Given the description of an element on the screen output the (x, y) to click on. 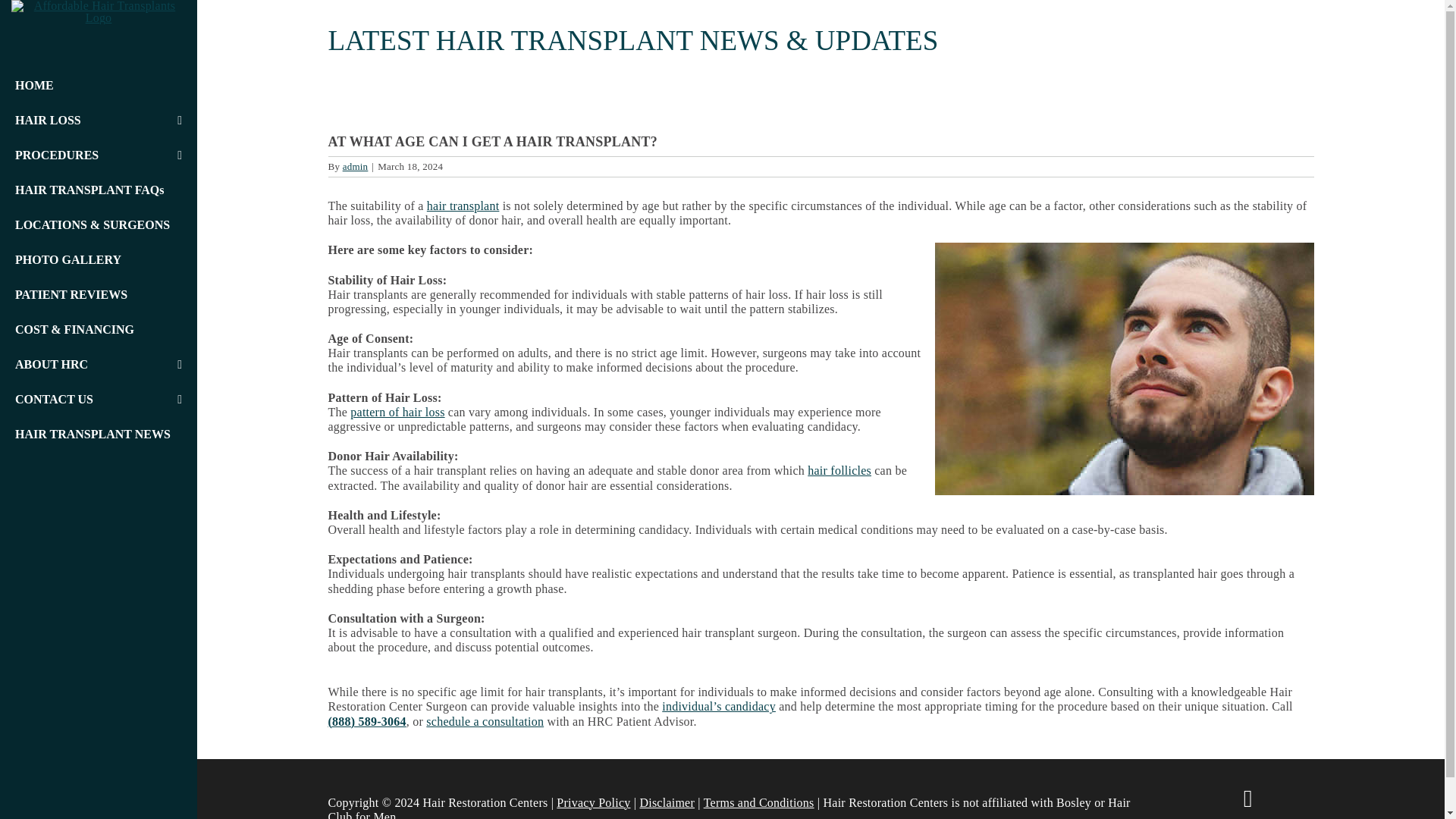
CONTACT US (92, 399)
HAIR LOSS (92, 120)
PROCEDURES (92, 154)
PHOTO GALLERY (98, 259)
HOME (98, 85)
PATIENT REVIEWS (98, 295)
HAIR TRANSPLANT NEWS (98, 434)
ABOUT HRC (92, 364)
HAIR TRANSPLANT FAQs (98, 190)
Posts by admin (355, 165)
